Given the description of an element on the screen output the (x, y) to click on. 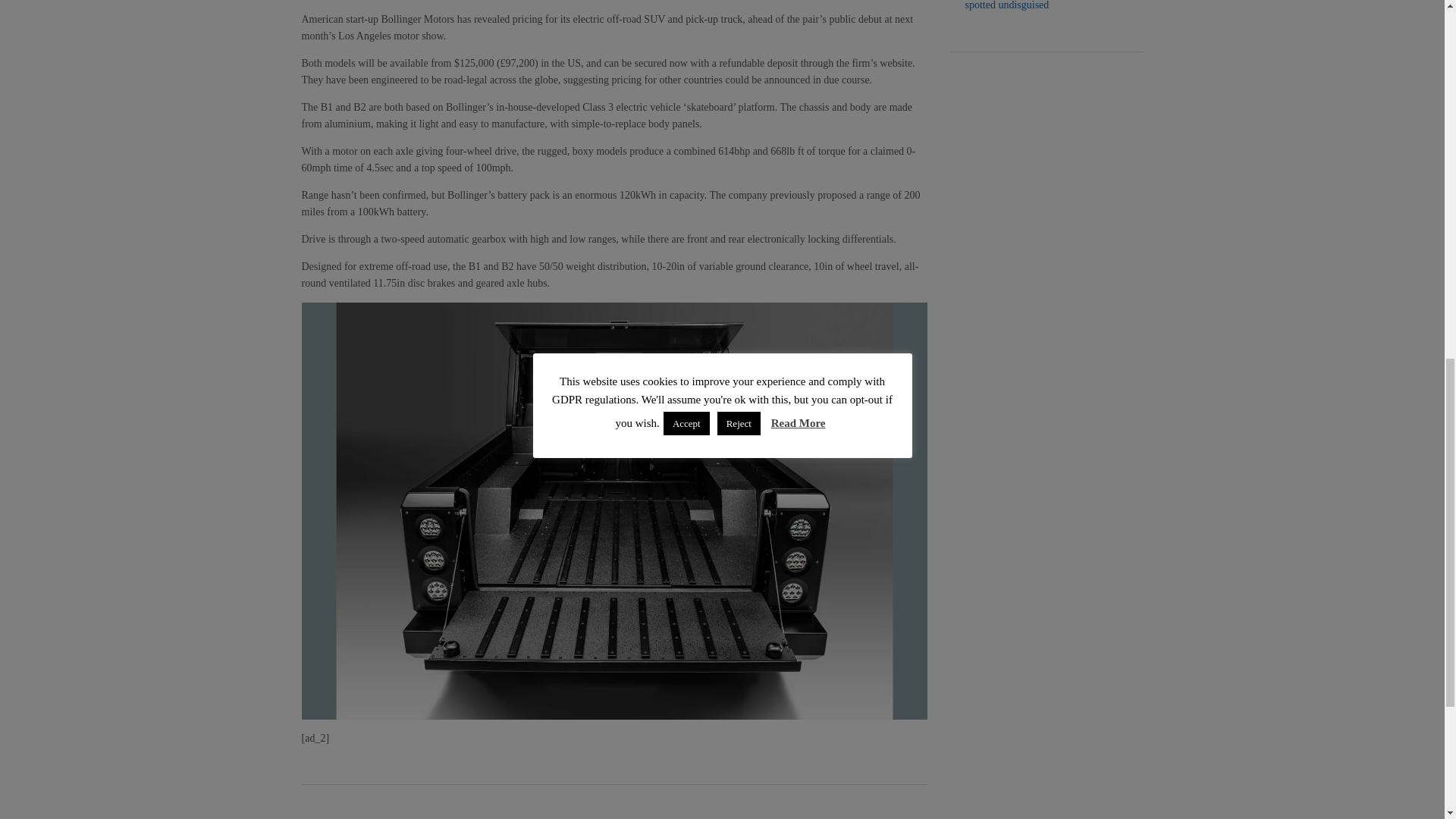
Car News (377, 817)
